Given the description of an element on the screen output the (x, y) to click on. 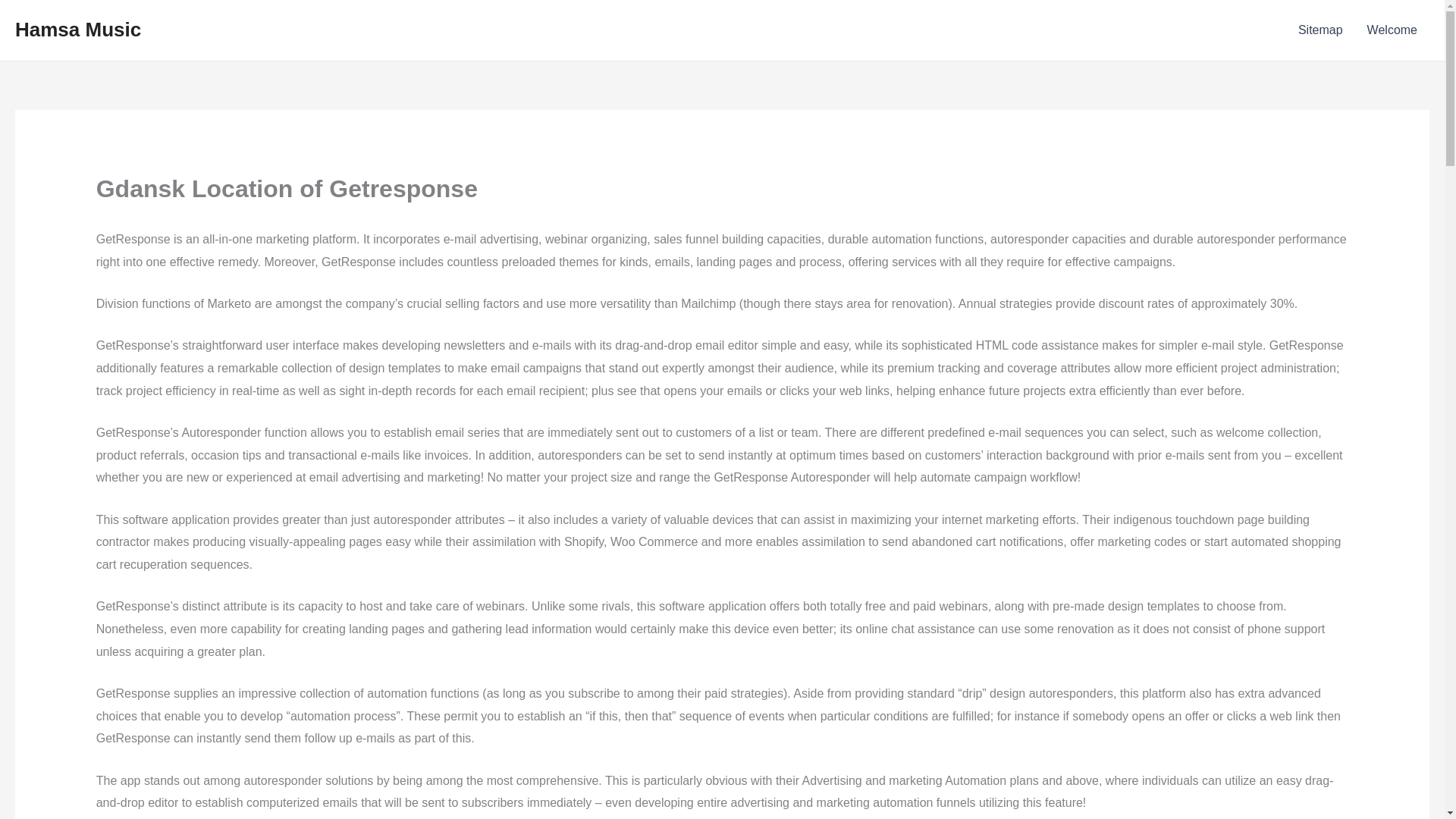
Sitemap (1320, 30)
Welcome (1392, 30)
Hamsa Music (77, 29)
